Given the description of an element on the screen output the (x, y) to click on. 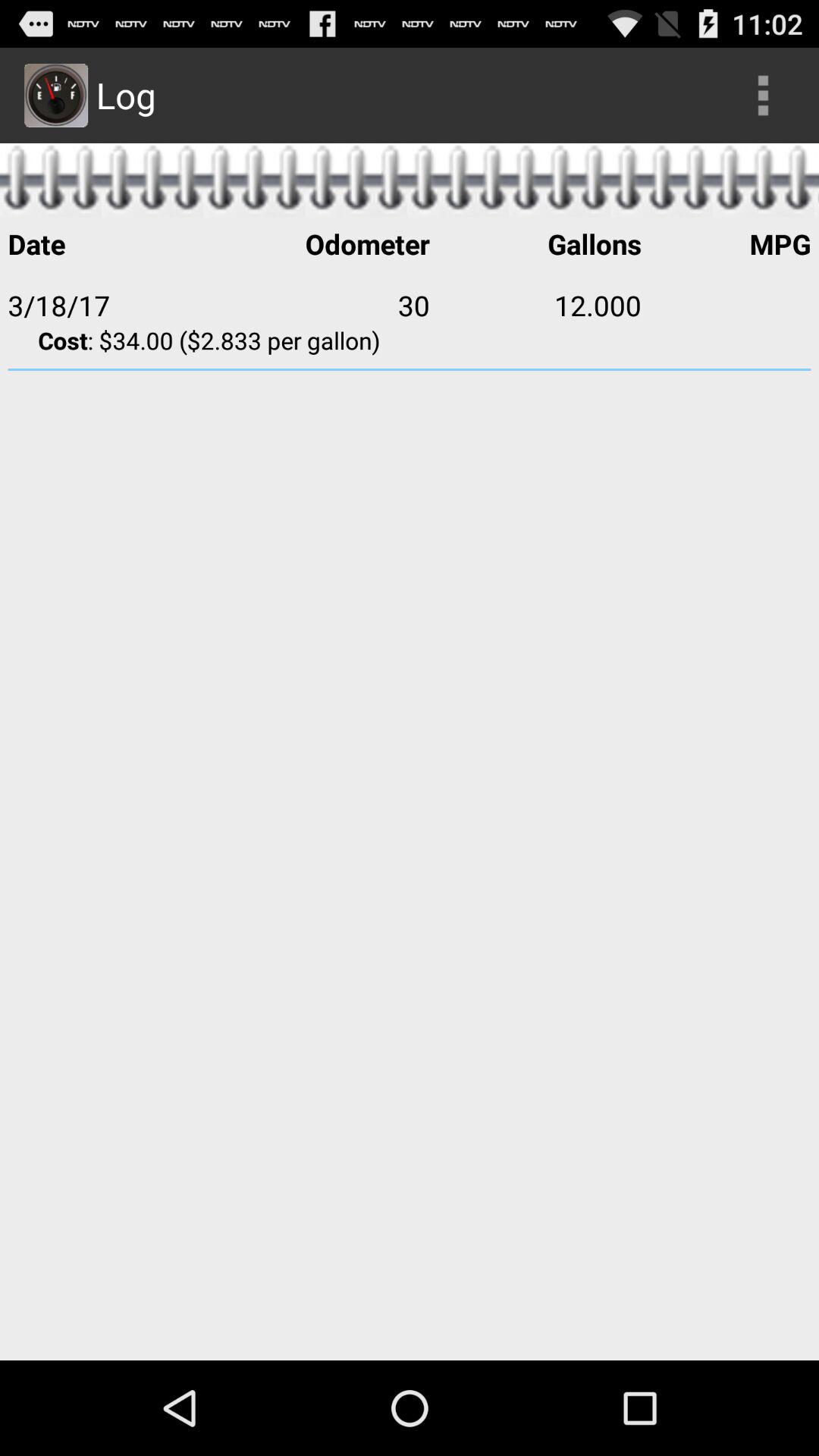
choose the cost 34 00 app (409, 340)
